Given the description of an element on the screen output the (x, y) to click on. 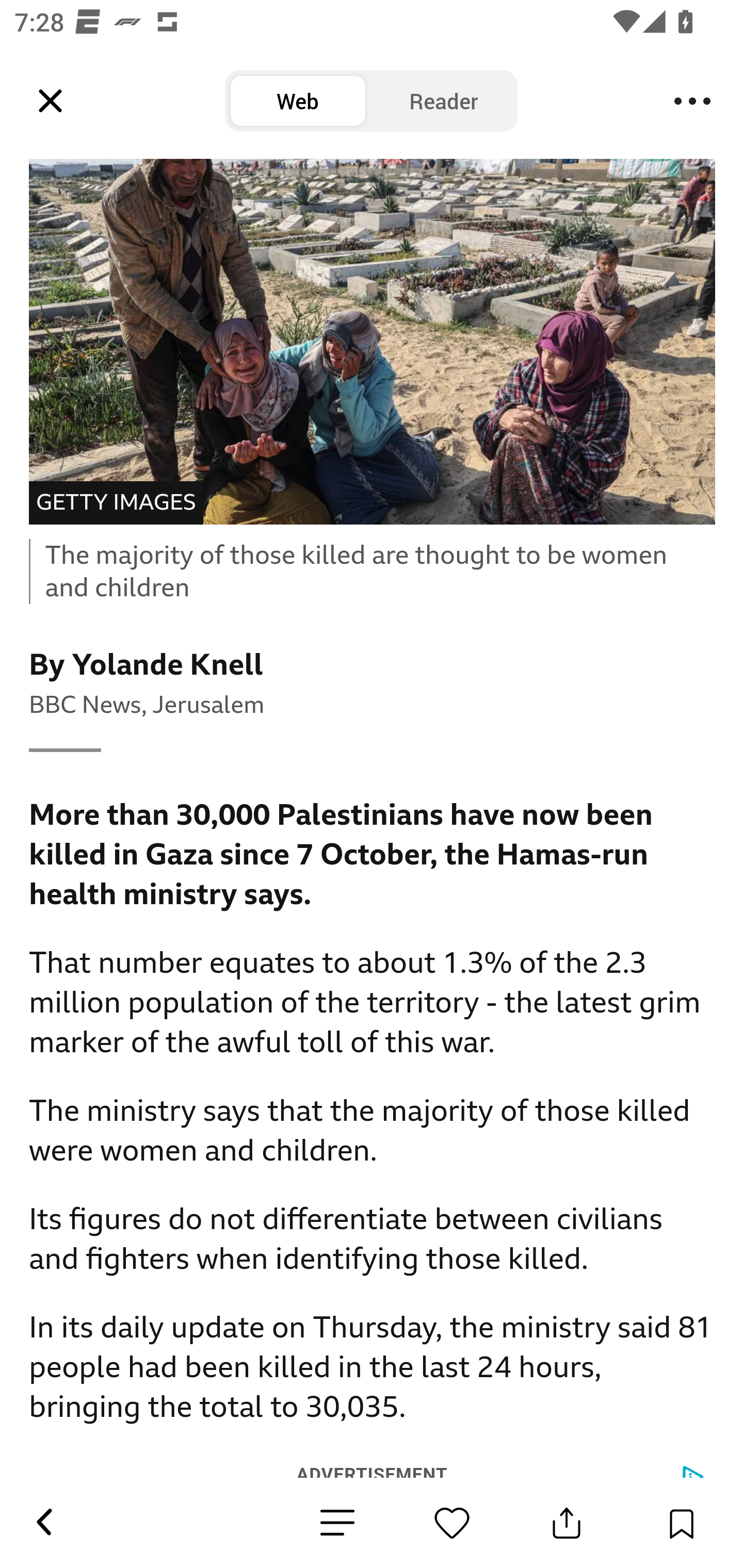
Share (68, 34)
Israel-Gaza war (257, 34)
Leading Icon (50, 101)
Reader (443, 101)
Menu (692, 101)
Back Button (43, 1523)
News Detail Emotion (451, 1523)
Share Button (566, 1523)
Save Button (680, 1523)
News Detail Emotion (337, 1523)
